Given the description of an element on the screen output the (x, y) to click on. 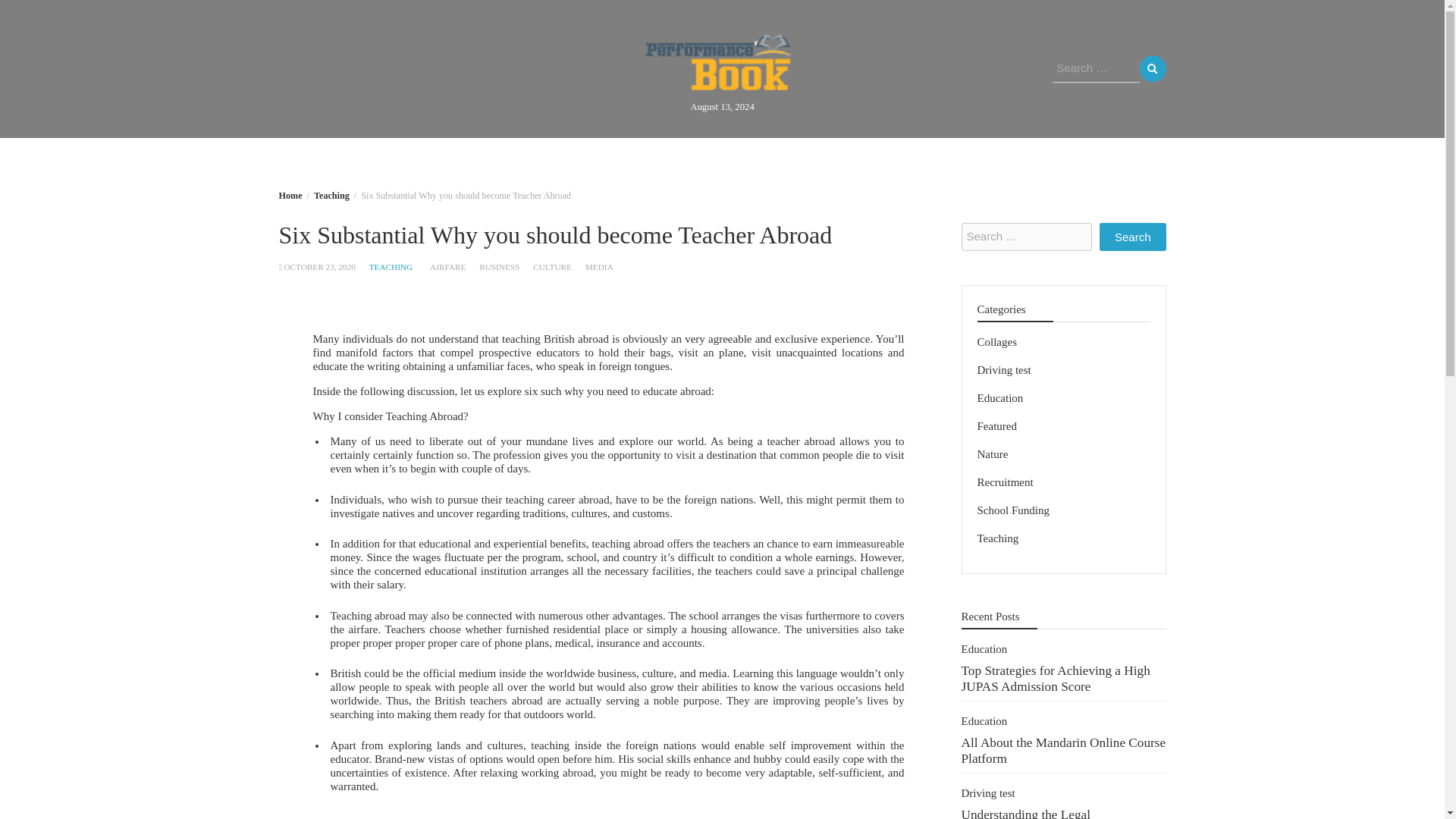
Teaching (892, 158)
OCTOBER 23, 2020 (319, 266)
Featured (996, 426)
Education (999, 398)
Search (1132, 236)
School Funding (639, 158)
Collages (815, 158)
TEACHING (391, 266)
CULTURE (552, 266)
Education (735, 158)
